Given the description of an element on the screen output the (x, y) to click on. 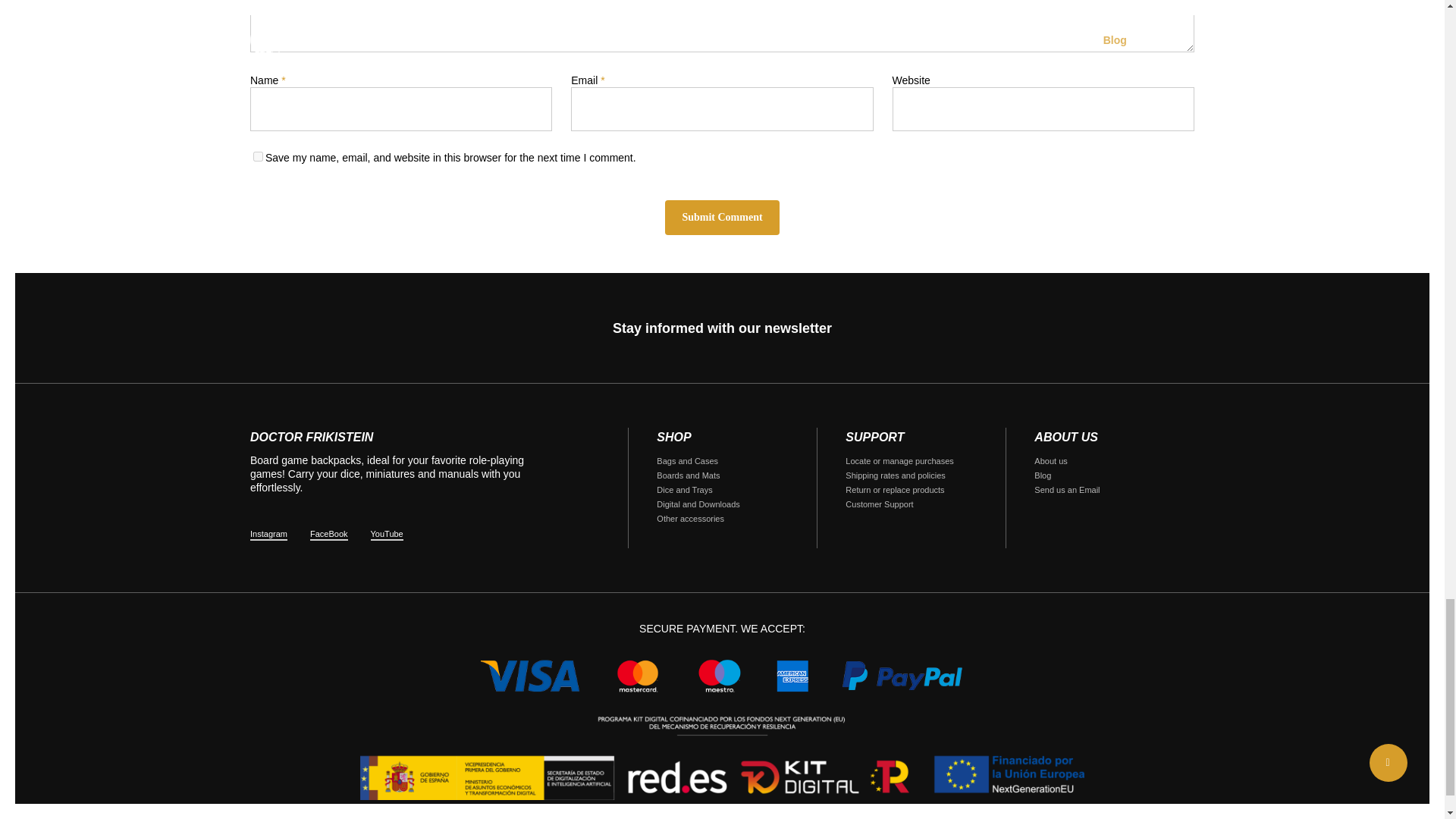
yes (258, 156)
Submit Comment (721, 217)
Submit Comment (721, 217)
